Given the description of an element on the screen output the (x, y) to click on. 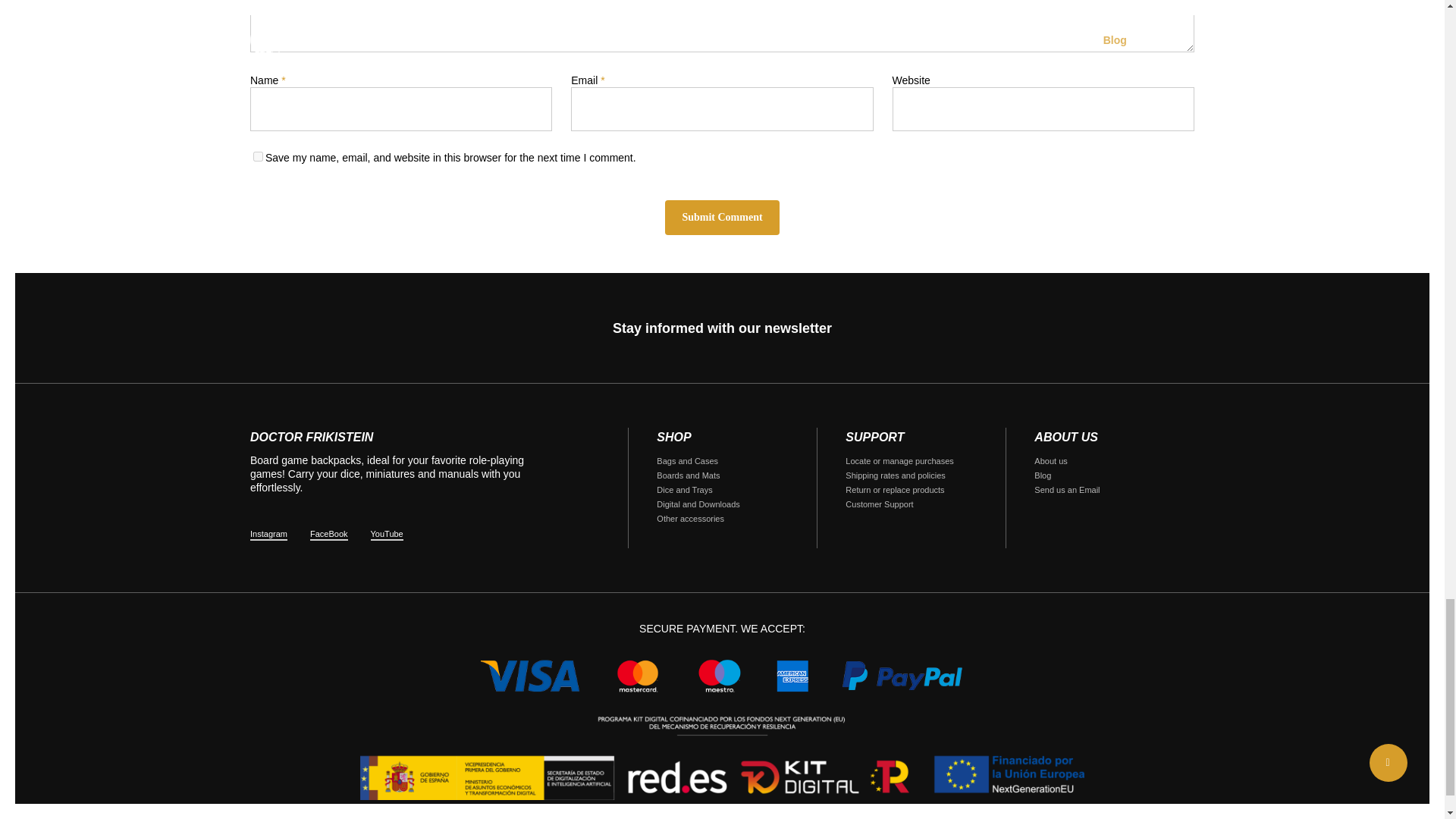
yes (258, 156)
Submit Comment (721, 217)
Submit Comment (721, 217)
